Given the description of an element on the screen output the (x, y) to click on. 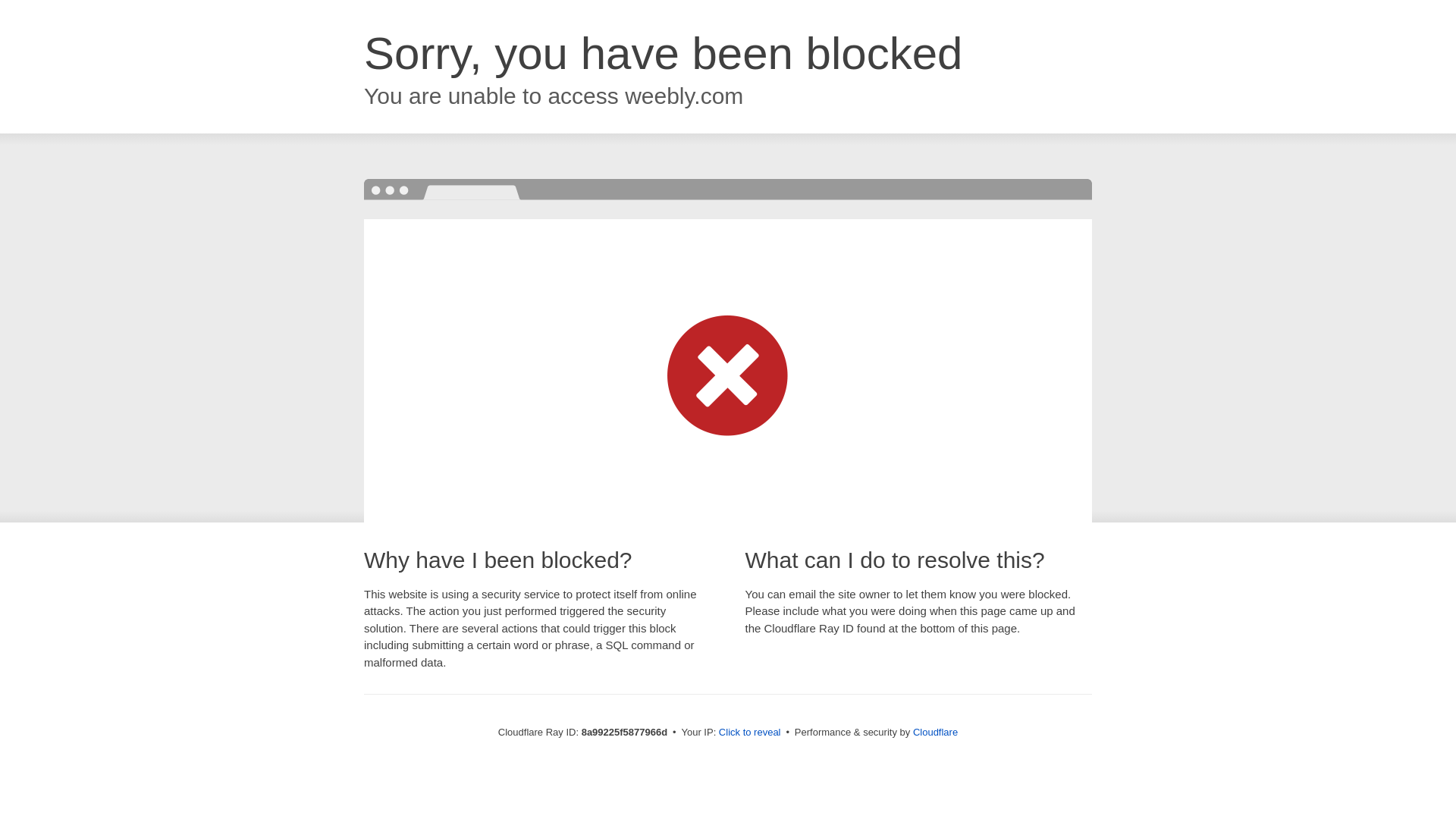
Click to reveal (749, 732)
Cloudflare (935, 731)
